Given the description of an element on the screen output the (x, y) to click on. 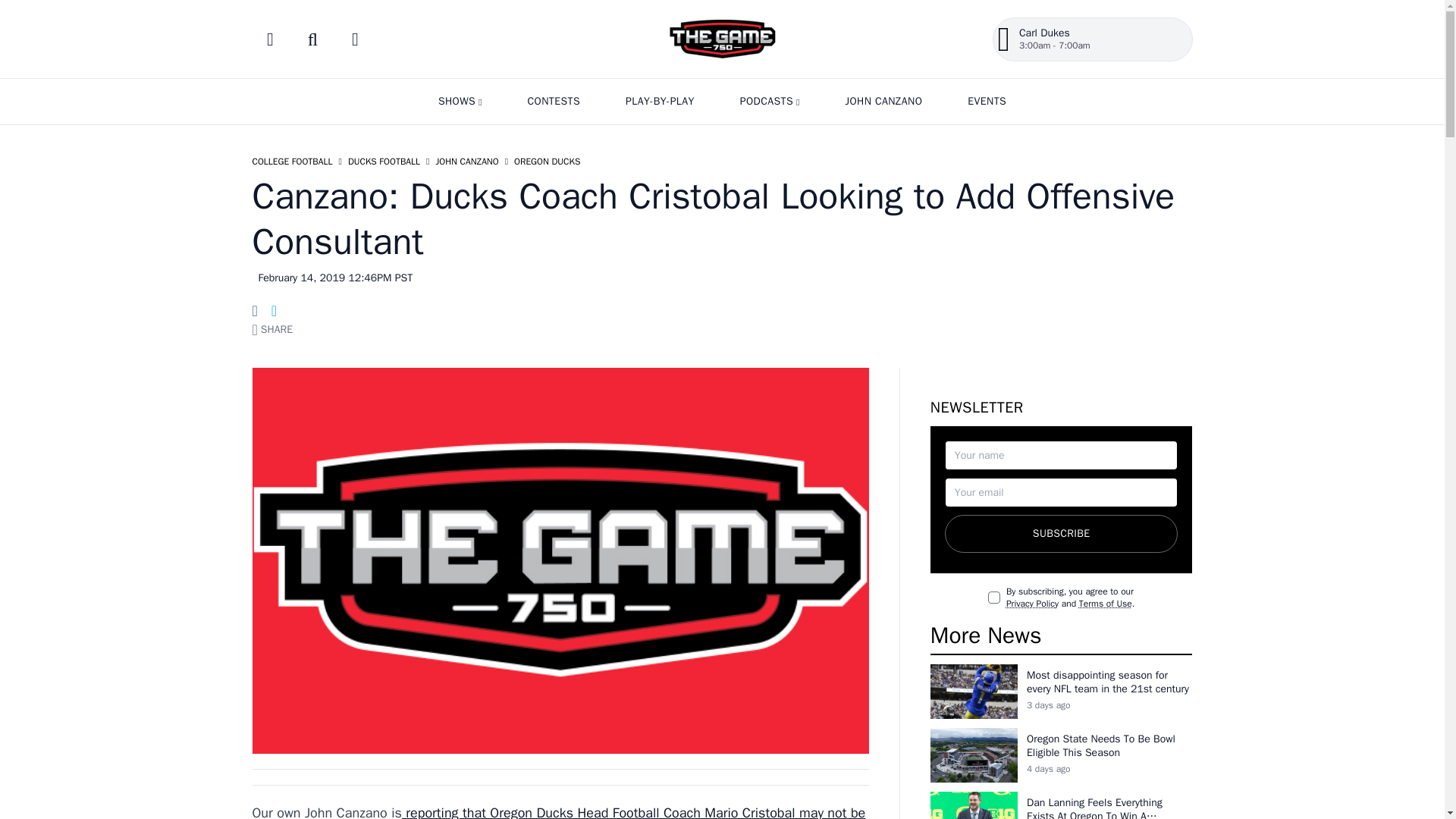
Signup Terms Agree (994, 597)
